Given the description of an element on the screen output the (x, y) to click on. 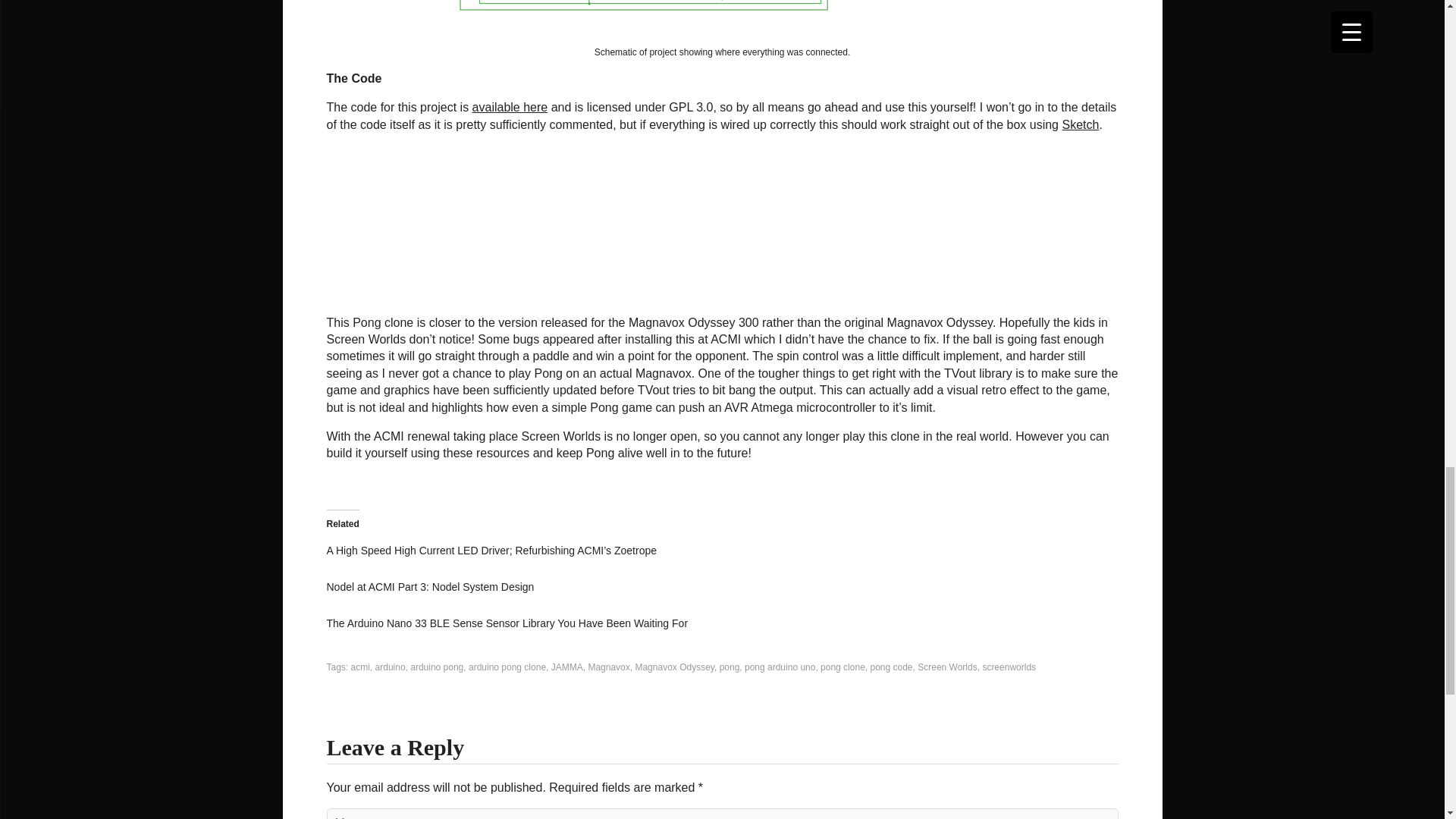
Sketch (1080, 124)
arduino pong clone (507, 666)
pong code (890, 666)
JAMMA (567, 666)
Nodel at ACMI Part 3: Nodel System Design (430, 586)
Nodel at ACMI Part 3: Nodel System Design (430, 586)
pong clone (842, 666)
acmi (359, 666)
screenworlds (1008, 666)
arduino pong (436, 666)
Screen Worlds (946, 666)
Magnavox Odyssey (674, 666)
arduino (390, 666)
